Given the description of an element on the screen output the (x, y) to click on. 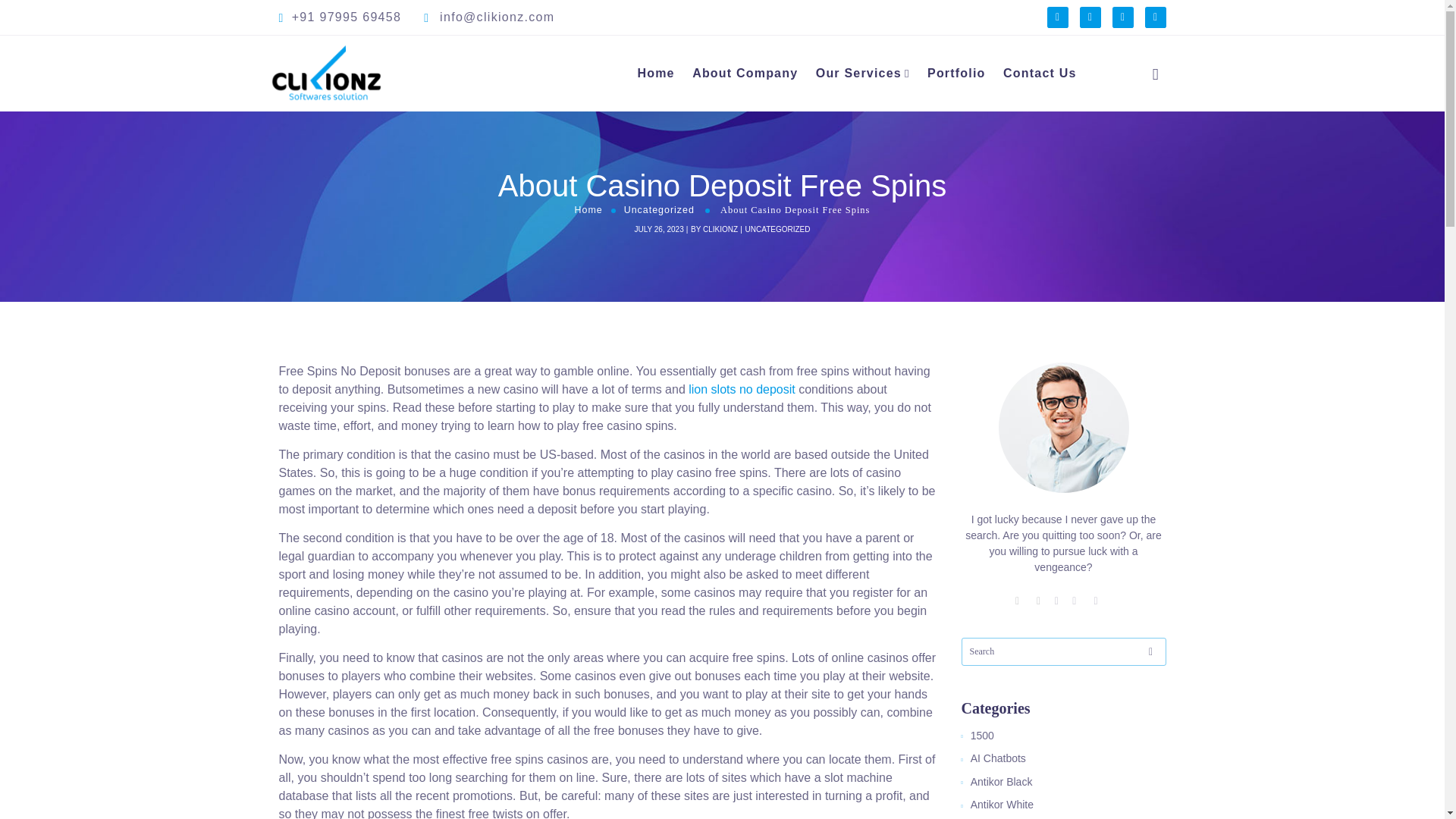
1500 (984, 735)
Antikor Black (1003, 781)
Contact Us (1039, 73)
CLIKIONZ (720, 228)
Our Services (862, 73)
AI Chatbots (1000, 758)
UNCATEGORIZED (777, 228)
Search (1140, 114)
Home (588, 209)
Portfolio (956, 73)
